Given the description of an element on the screen output the (x, y) to click on. 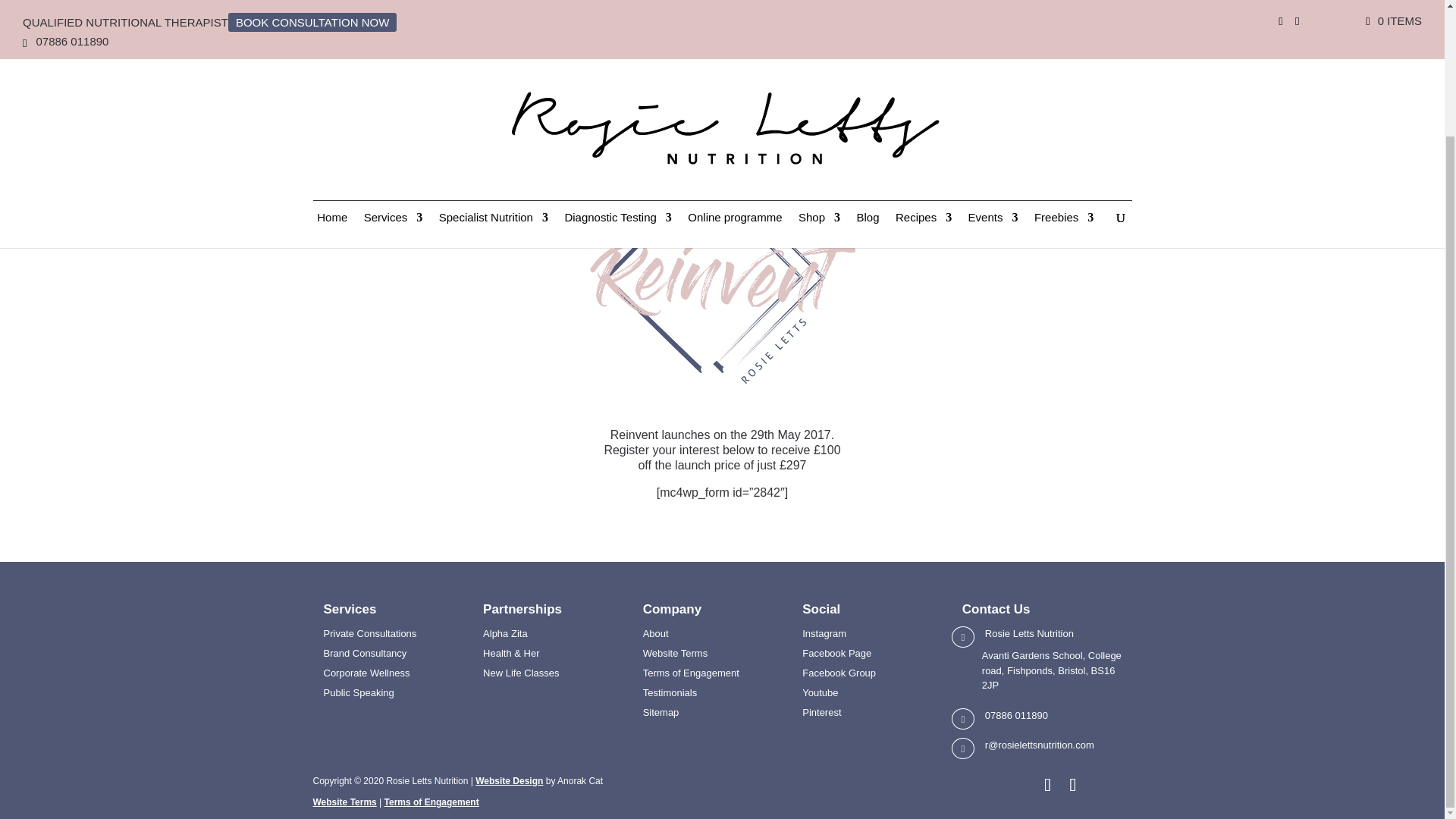
Shop (818, 77)
Online programme (734, 77)
Specialist Nutrition (493, 77)
Home (332, 77)
Diagnostic Testing (617, 77)
Services (393, 77)
